Given the description of an element on the screen output the (x, y) to click on. 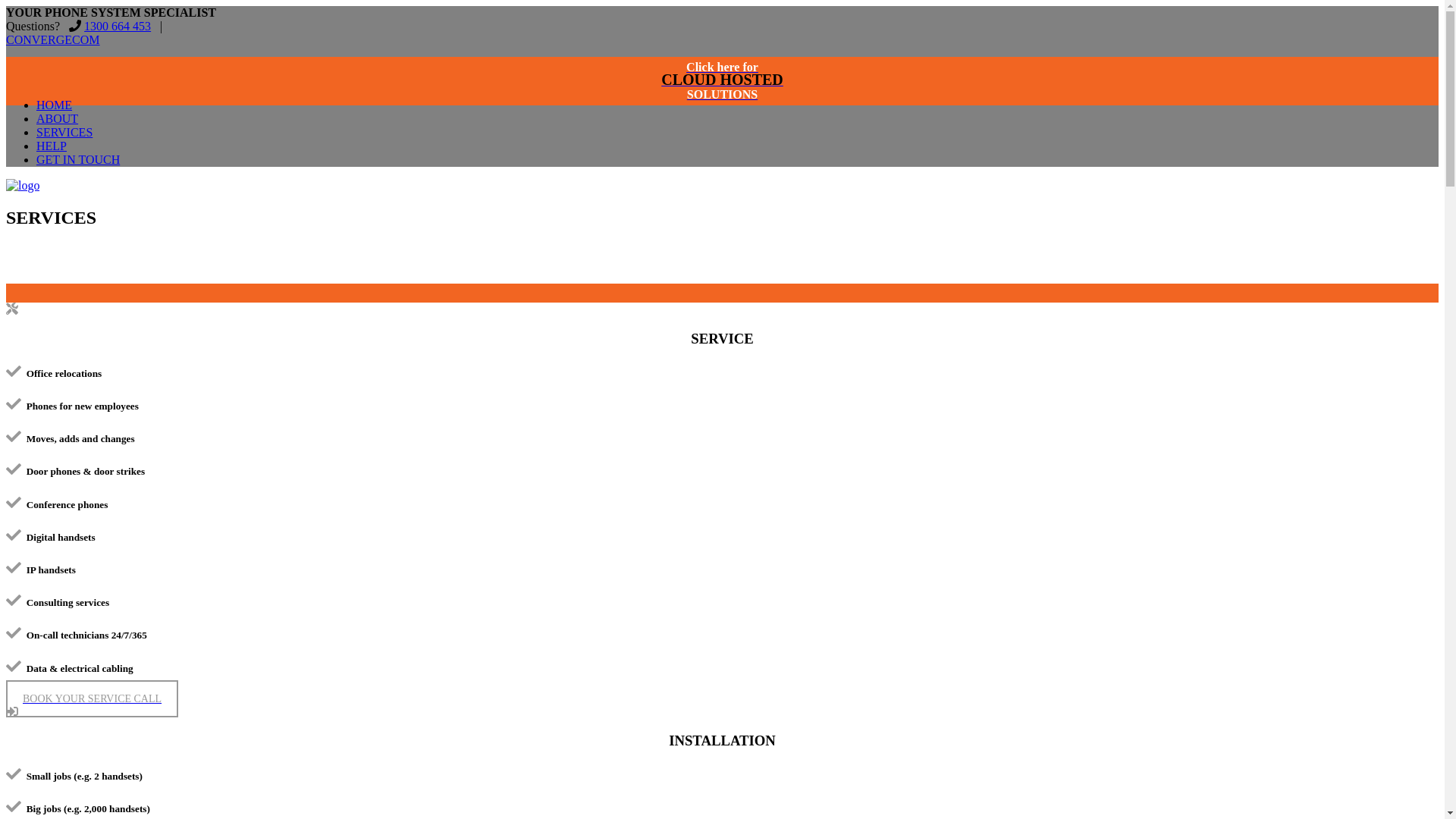
Facebook Element type: hover (198, 25)
LinkedIn Element type: hover (177, 25)
HOME Element type: text (54, 104)
GET IN TOUCH Element type: text (77, 159)
SERVICES Element type: text (64, 131)
HELP Element type: text (51, 145)
Click here for
CLOUD HOSTED
SOLUTIONS Element type: text (722, 80)
CONVERGECOM Element type: text (53, 39)
CONVERGECOM Element type: hover (22, 184)
BOOK YOUR SERVICE CALL Element type: text (92, 697)
ABOUT Element type: text (57, 118)
1300 664 453 Element type: text (117, 25)
